Given the description of an element on the screen output the (x, y) to click on. 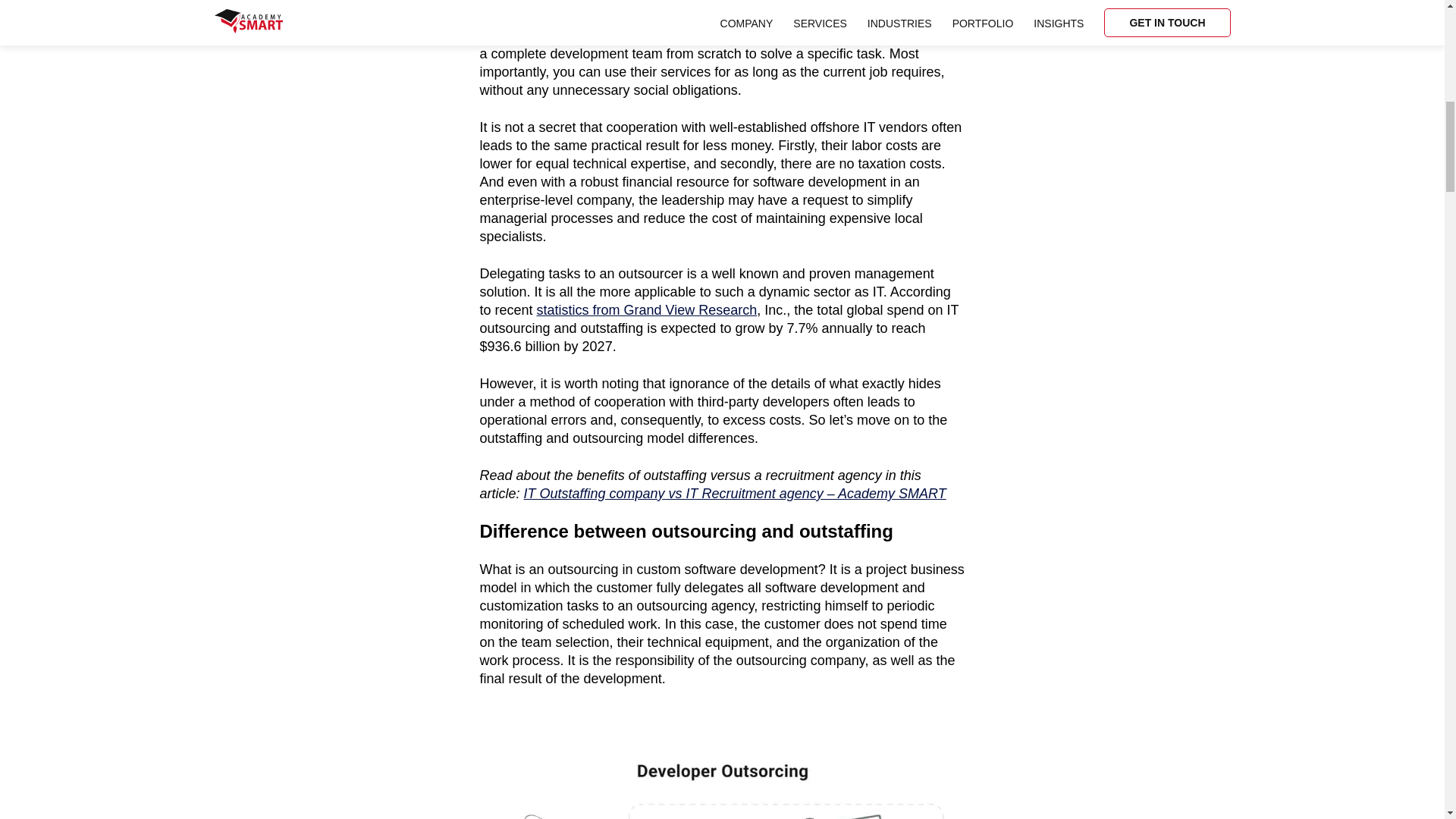
statistics from Grand View Research (647, 309)
